Given the description of an element on the screen output the (x, y) to click on. 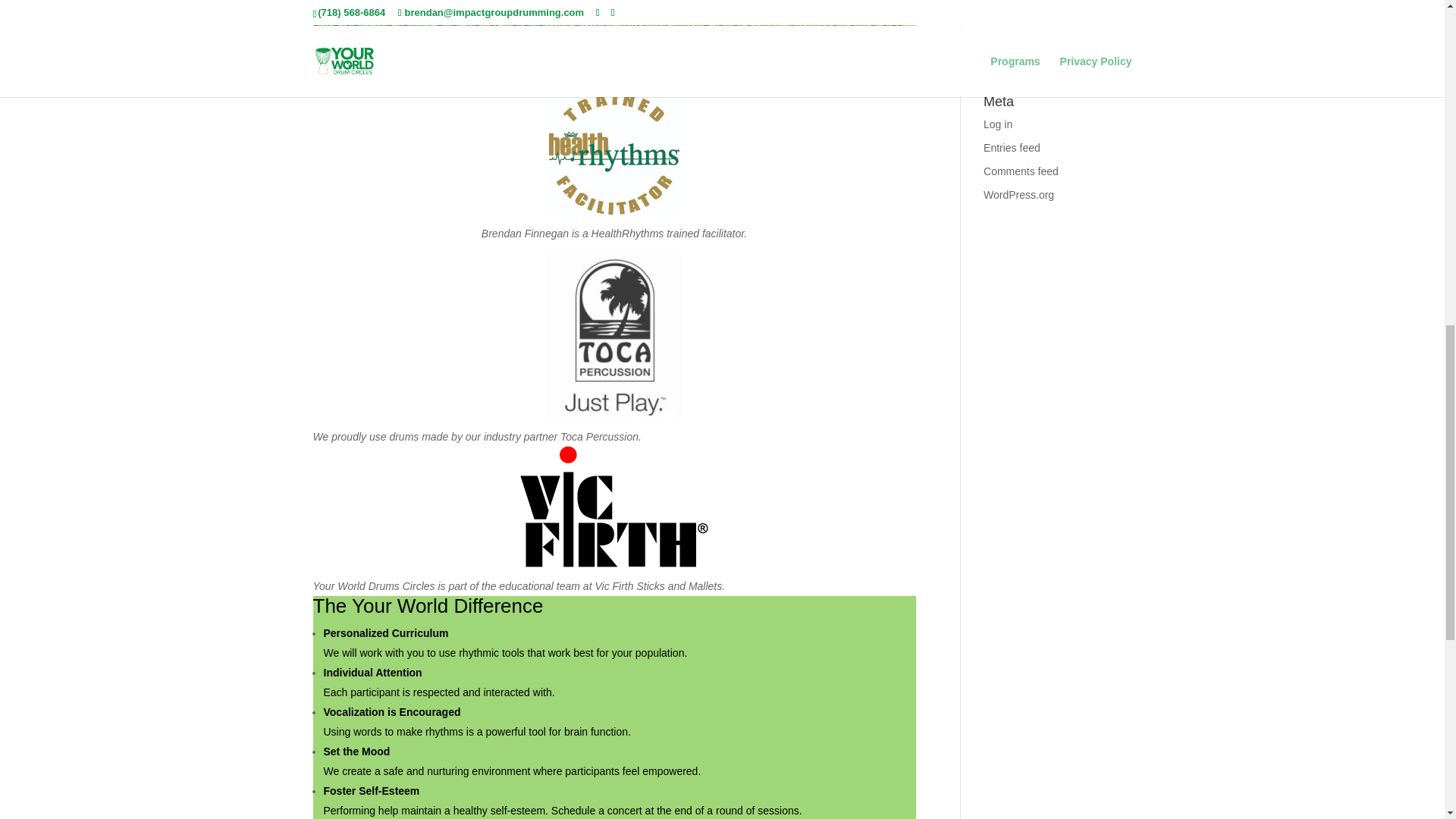
April 2013 (1007, 15)
March 2013 (1011, 39)
